Given the description of an element on the screen output the (x, y) to click on. 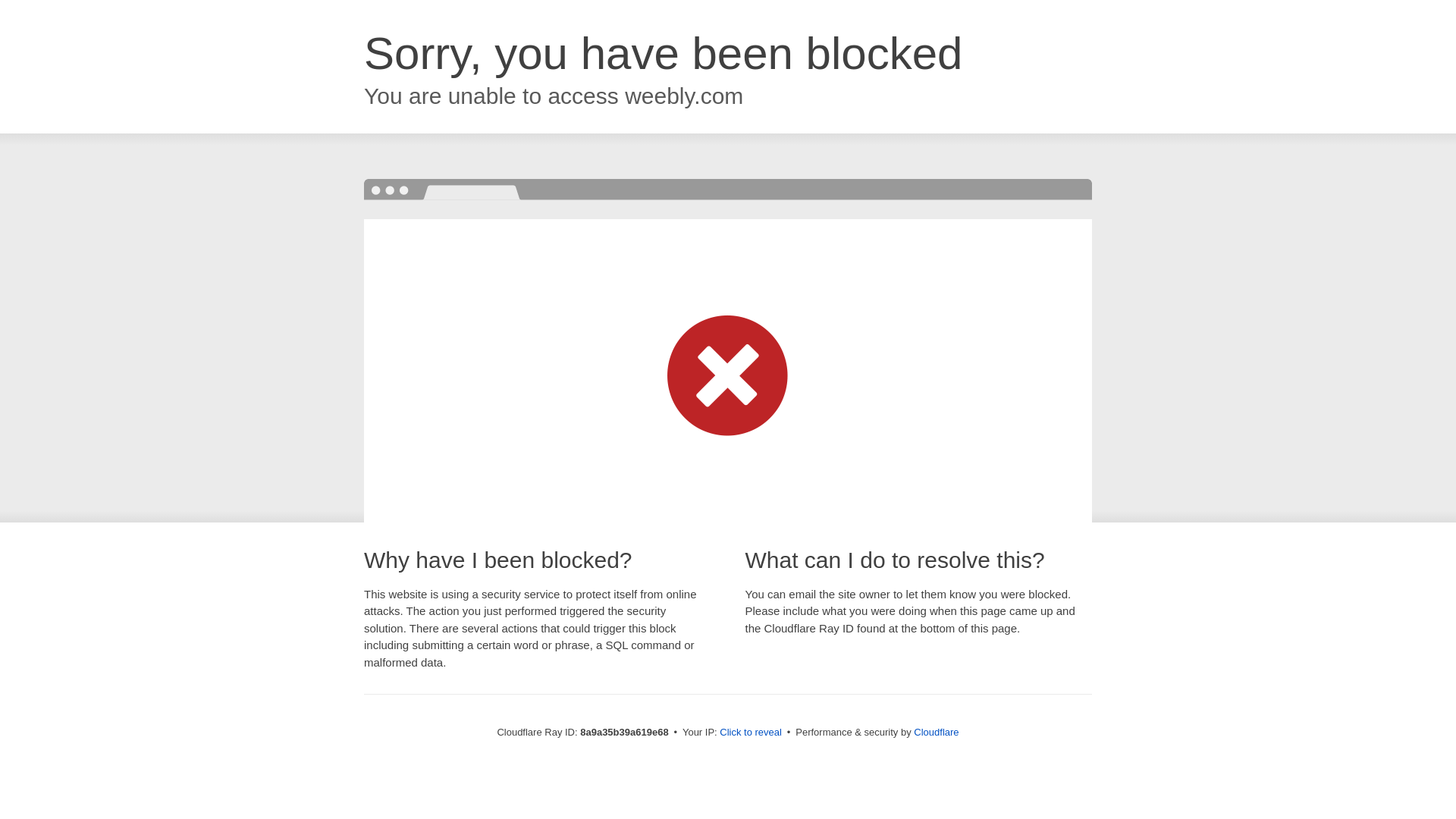
Click to reveal (750, 732)
Cloudflare (936, 731)
